Given the description of an element on the screen output the (x, y) to click on. 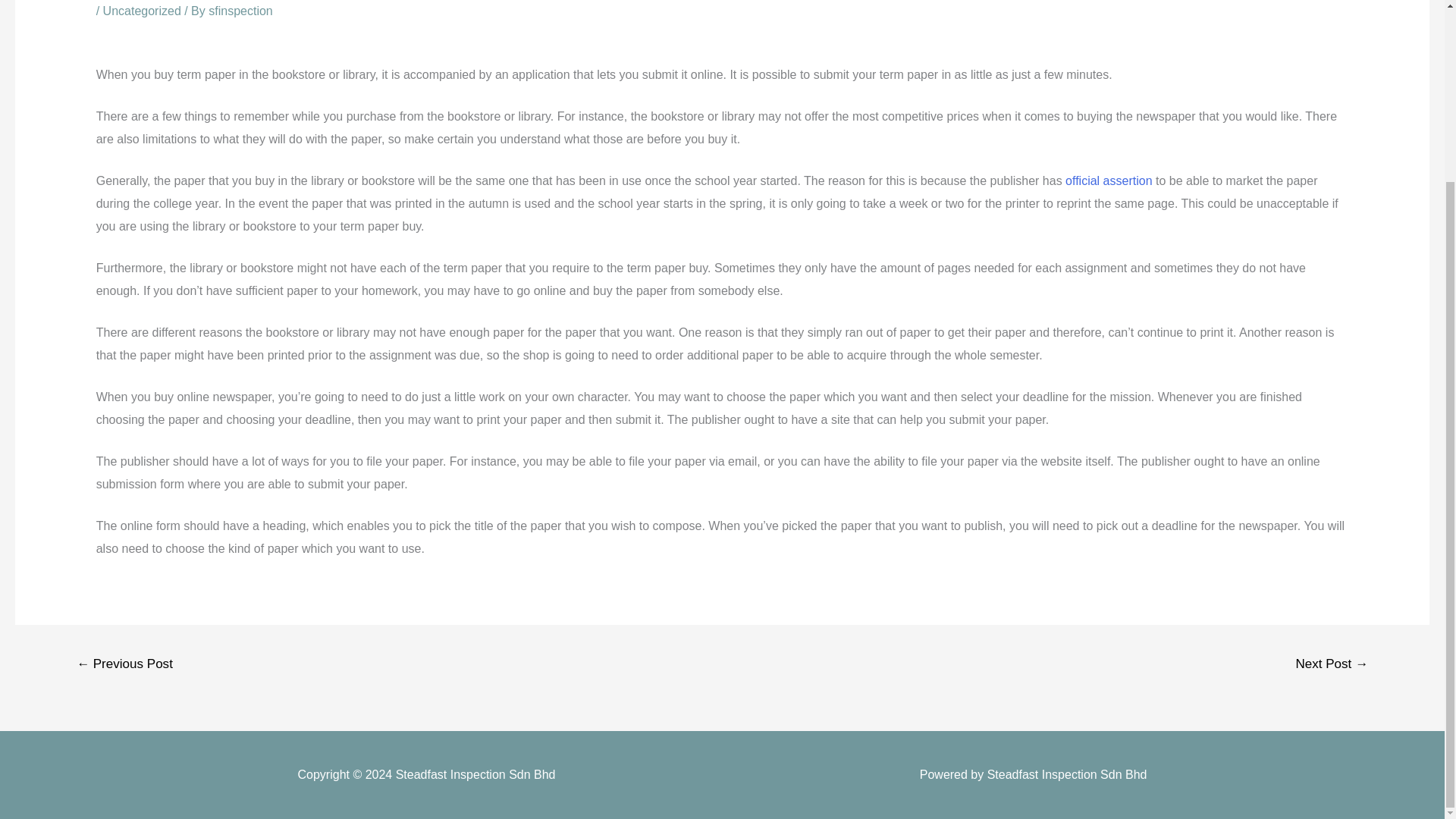
official assertion (1108, 180)
View all posts by sfinspection (240, 10)
Uncategorized (141, 10)
sfinspection (240, 10)
